Given the description of an element on the screen output the (x, y) to click on. 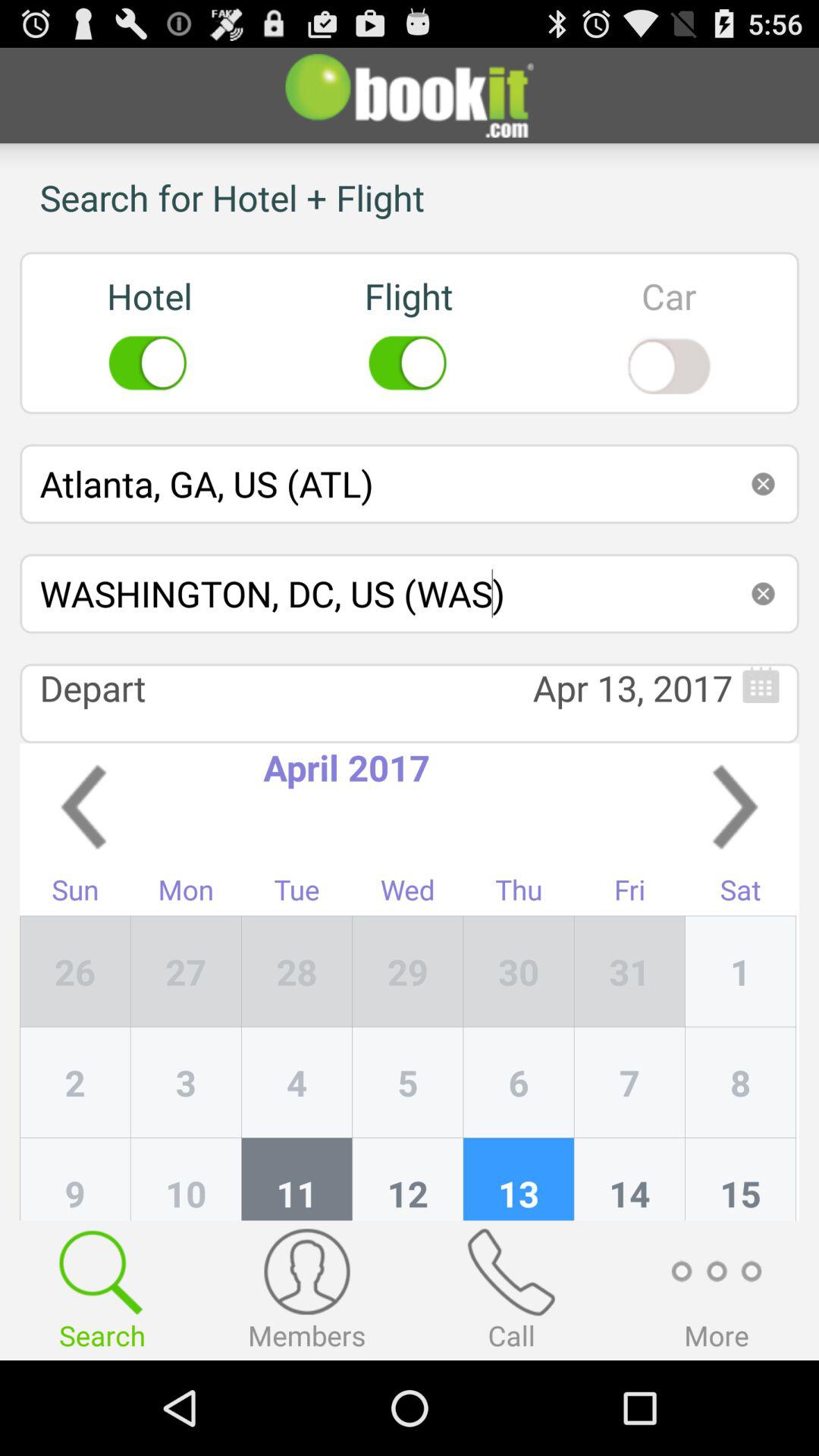
press the item to the left of 5 item (296, 1179)
